Given the description of an element on the screen output the (x, y) to click on. 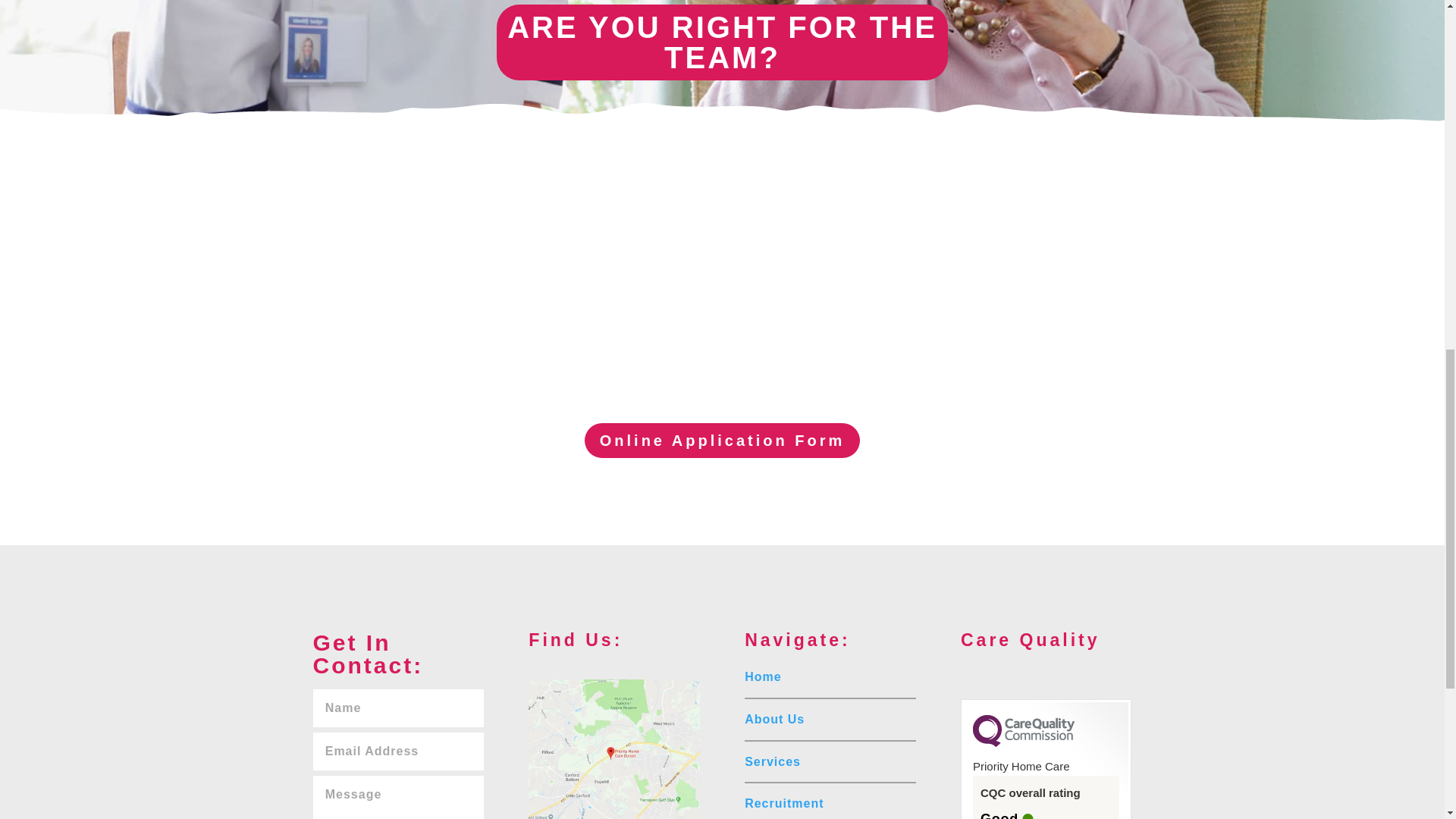
Recruitment (784, 802)
About Us (774, 718)
Home (762, 676)
Online Application Form (722, 440)
CQC Logo (1023, 743)
Services (772, 761)
